Given the description of an element on the screen output the (x, y) to click on. 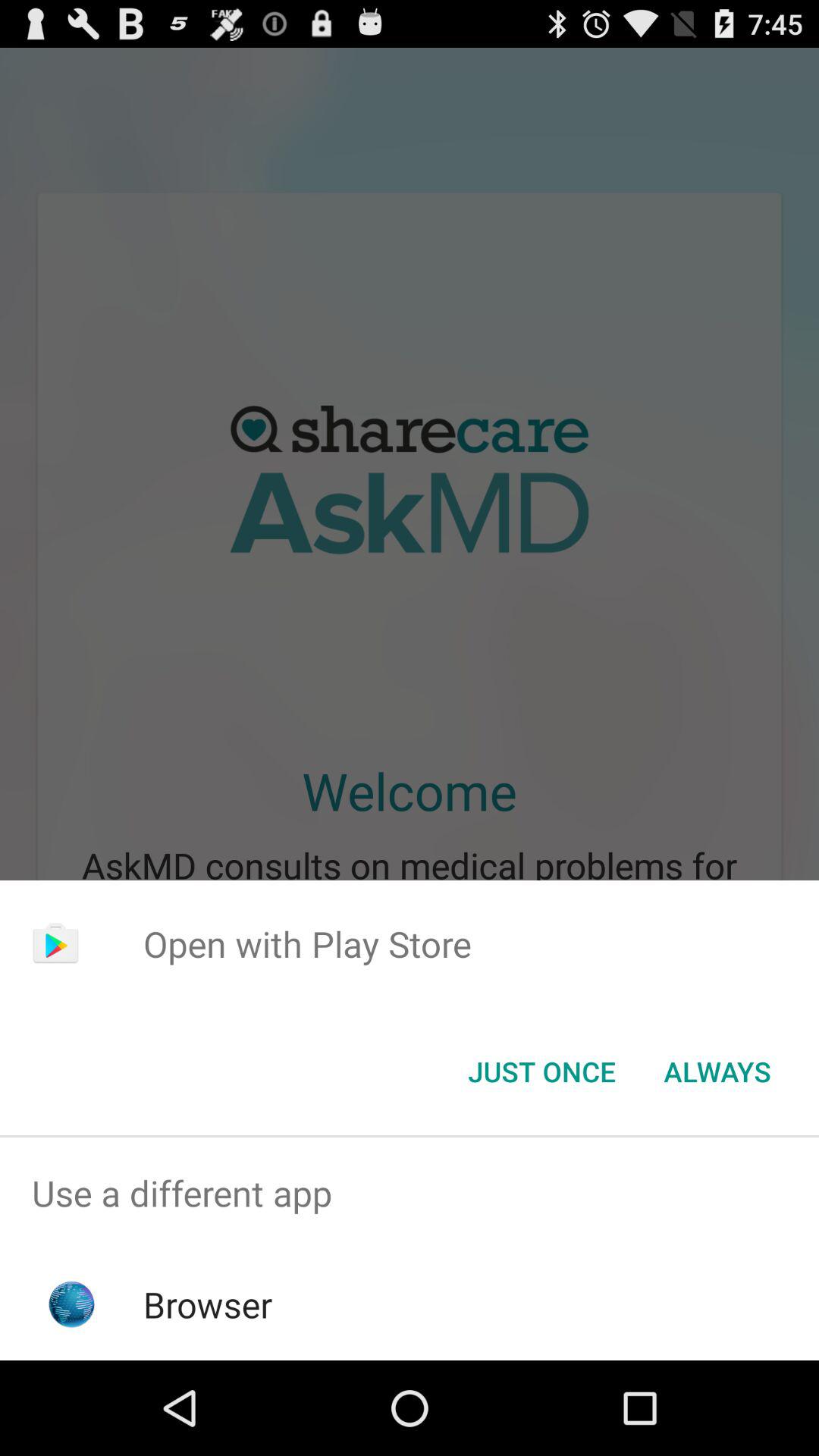
turn on the item at the bottom right corner (717, 1071)
